Given the description of an element on the screen output the (x, y) to click on. 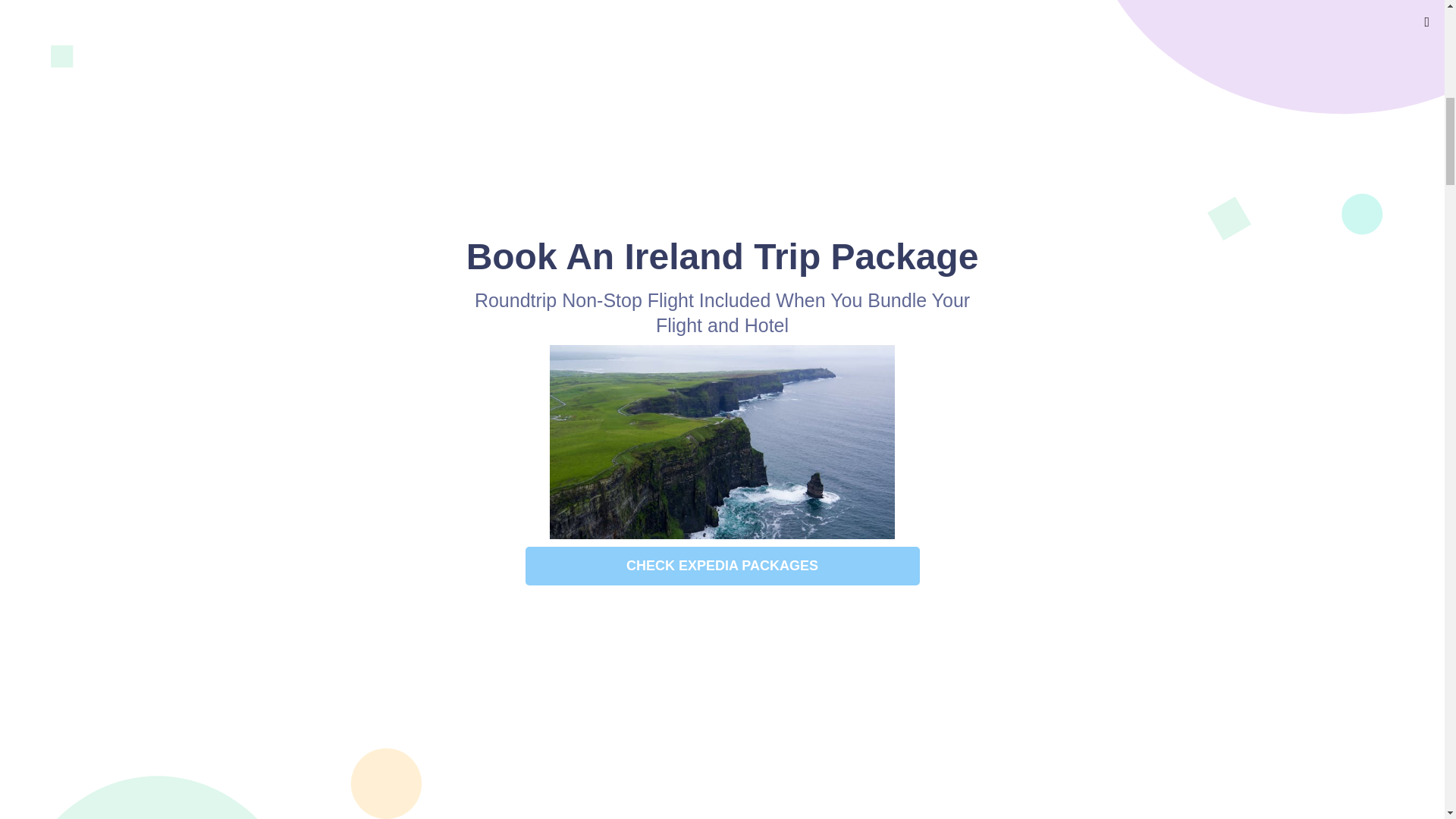
pre-Celtic roots (615, 444)
